Given the description of an element on the screen output the (x, y) to click on. 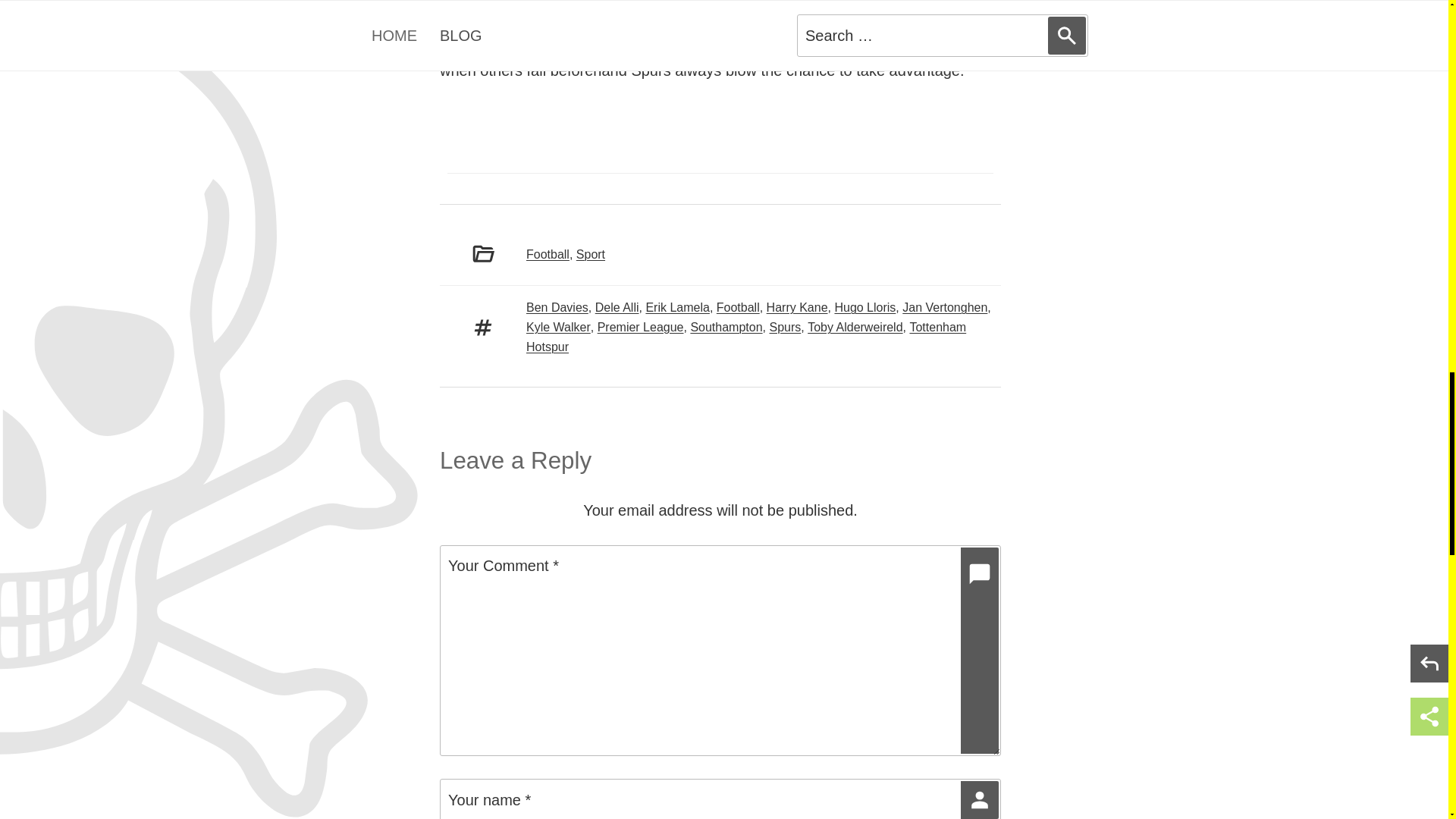
Football (738, 307)
Erik Lamela (677, 307)
Toby Alderweireld (855, 327)
Tottenham Hotspur (745, 336)
Sport (590, 254)
Kyle Walker (558, 327)
Dele Alli (617, 307)
Football (547, 254)
Jan Vertonghen (944, 307)
Harry Kane (797, 307)
